Given the description of an element on the screen output the (x, y) to click on. 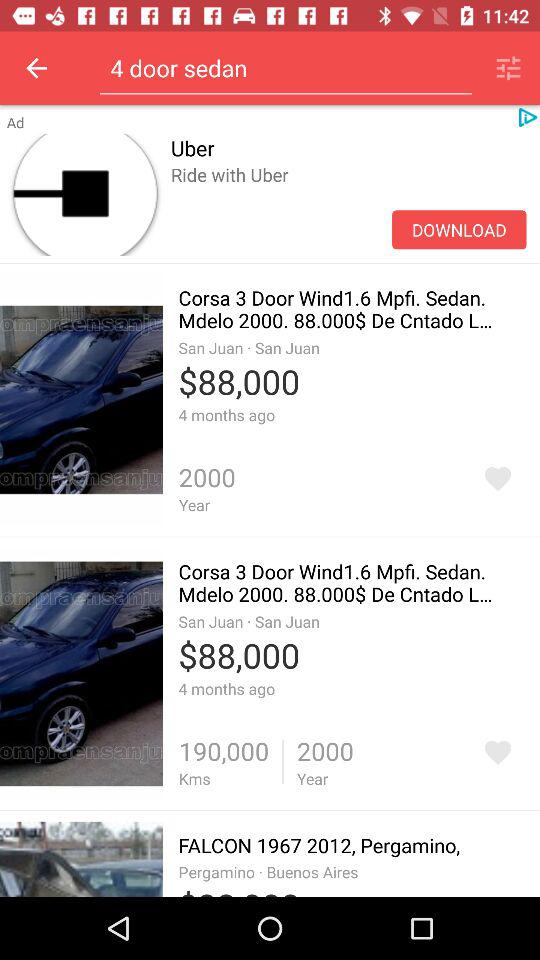
click the heart like (497, 752)
